Given the description of an element on the screen output the (x, y) to click on. 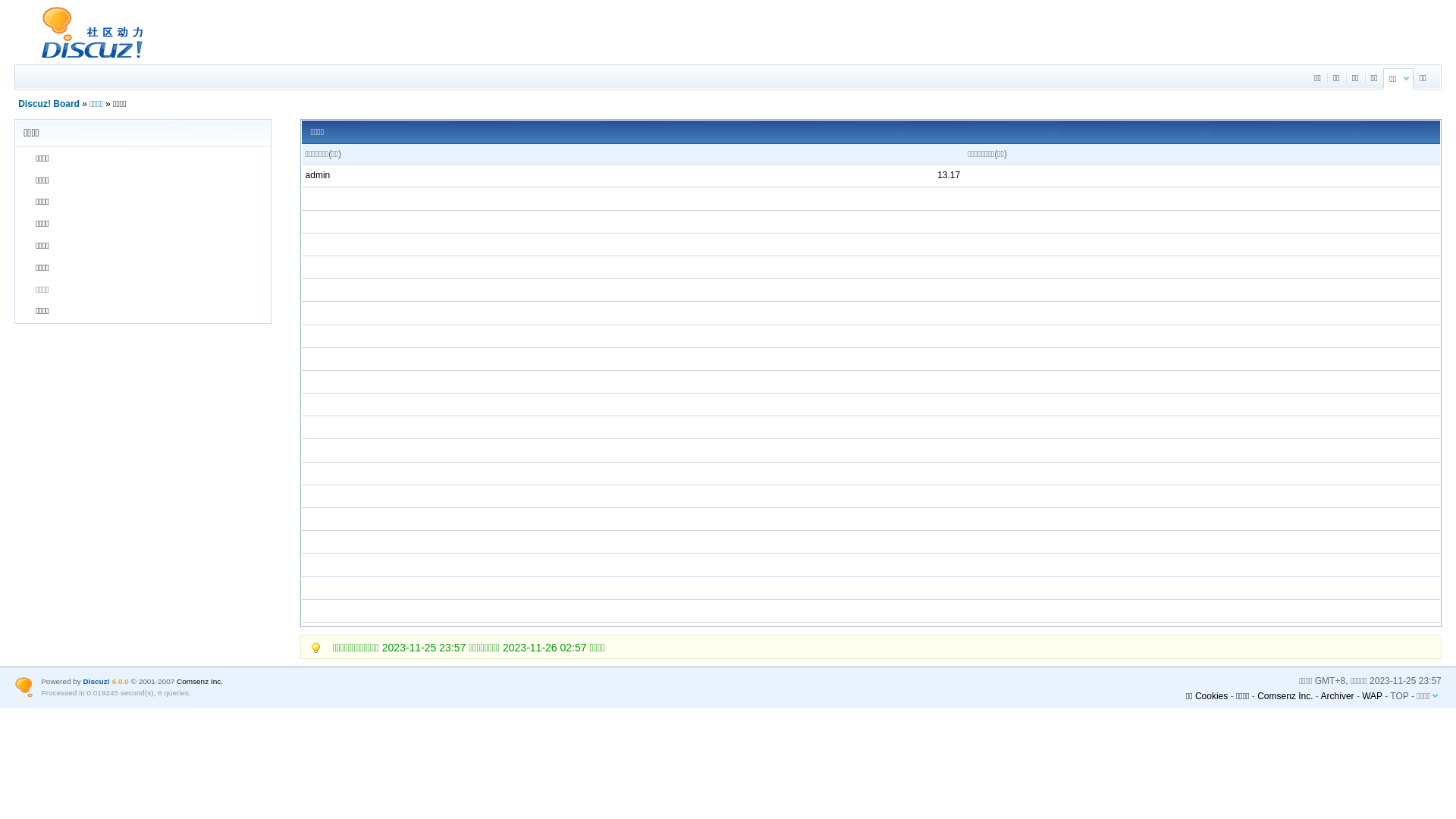
Discuz! Board Element type: text (48, 103)
Comsenz Inc. Element type: text (199, 681)
admin Element type: text (317, 174)
WAP Element type: text (1371, 695)
Discuz! Element type: text (96, 681)
TOP Element type: text (1399, 695)
Comsenz Inc. Element type: text (1284, 695)
Archiver Element type: text (1337, 695)
Discuz! Board Element type: hover (85, 57)
